Given the description of an element on the screen output the (x, y) to click on. 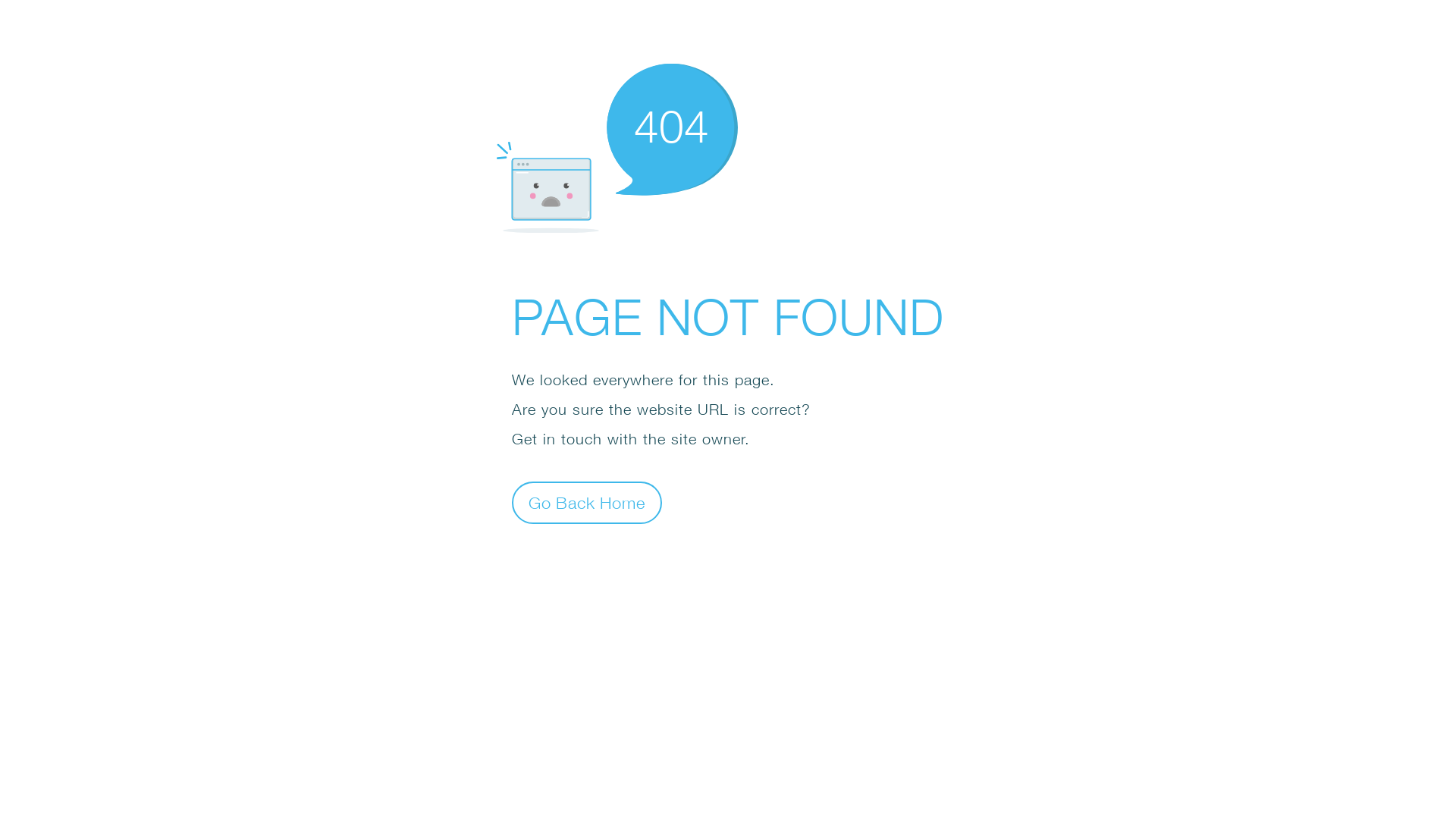
Go Back Home Element type: text (586, 502)
